Given the description of an element on the screen output the (x, y) to click on. 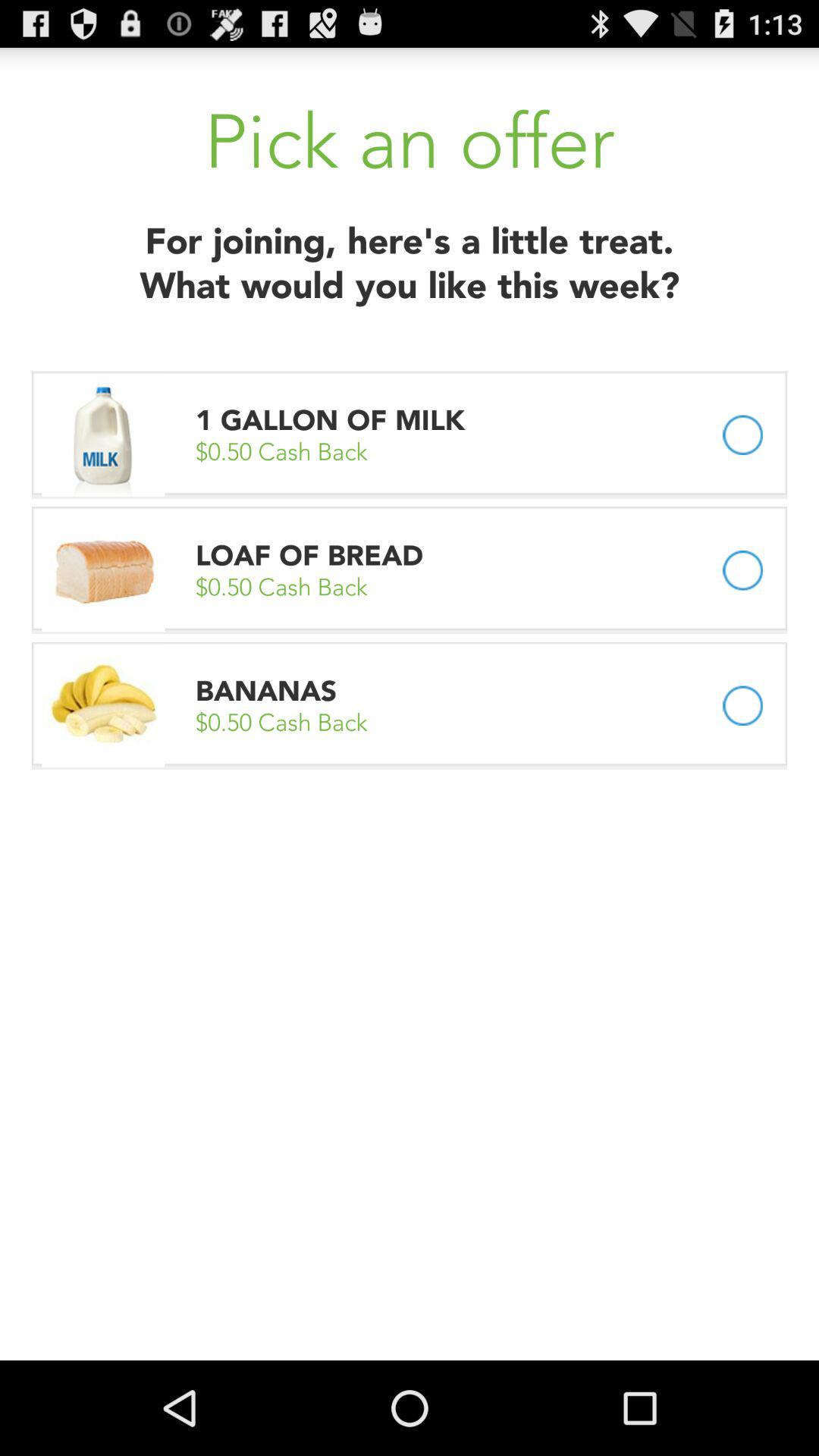
select item above 0 50 cash icon (309, 555)
